Given the description of an element on the screen output the (x, y) to click on. 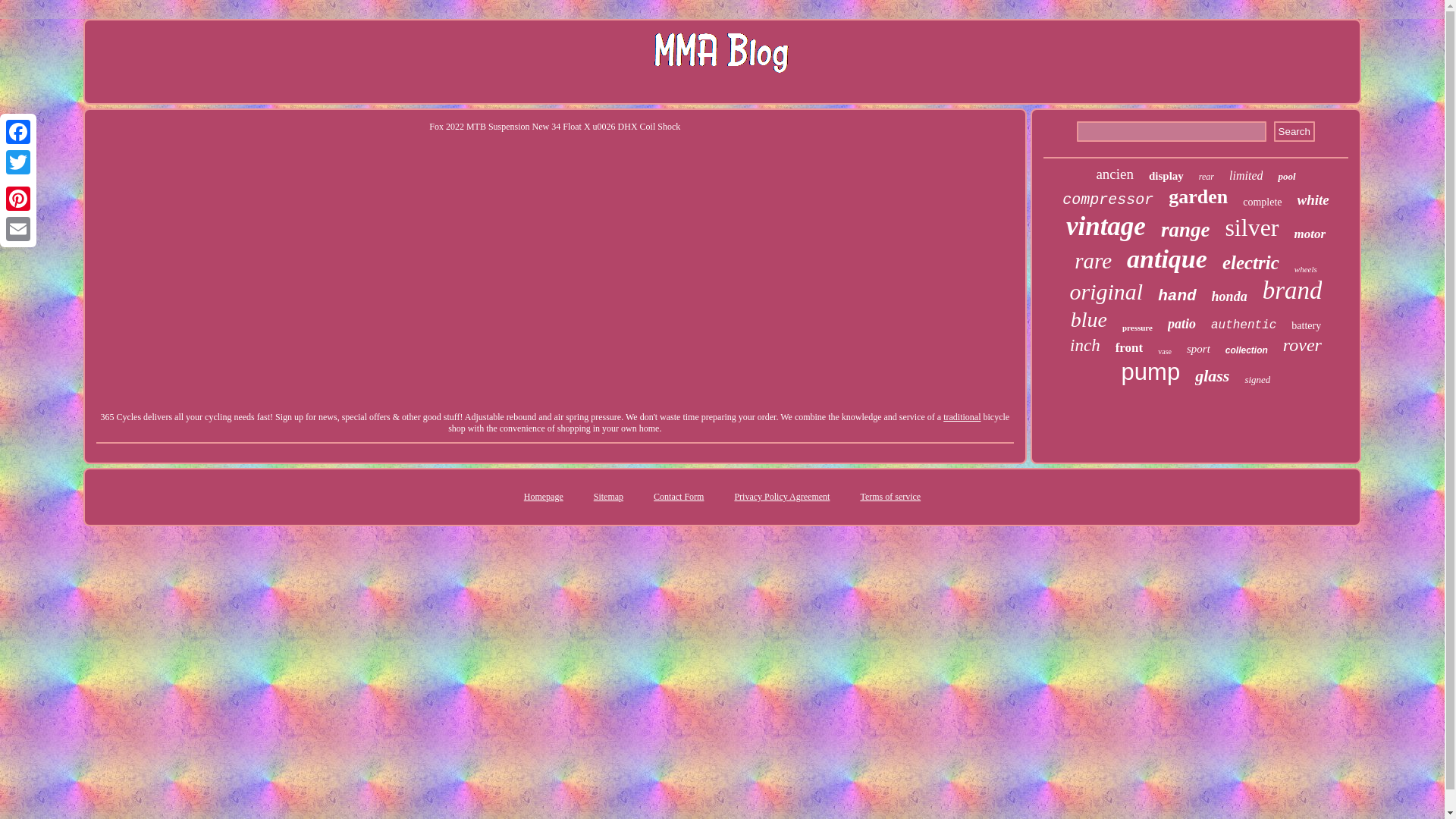
motor (1309, 233)
original (1105, 291)
vintage (1105, 226)
compressor (1107, 199)
white (1313, 199)
Twitter (17, 162)
Search (1294, 131)
authentic (1243, 325)
Email (17, 228)
traditional (961, 416)
electric (1251, 262)
hand (1176, 295)
patio (1181, 324)
range (1184, 229)
garden (1198, 196)
